Given the description of an element on the screen output the (x, y) to click on. 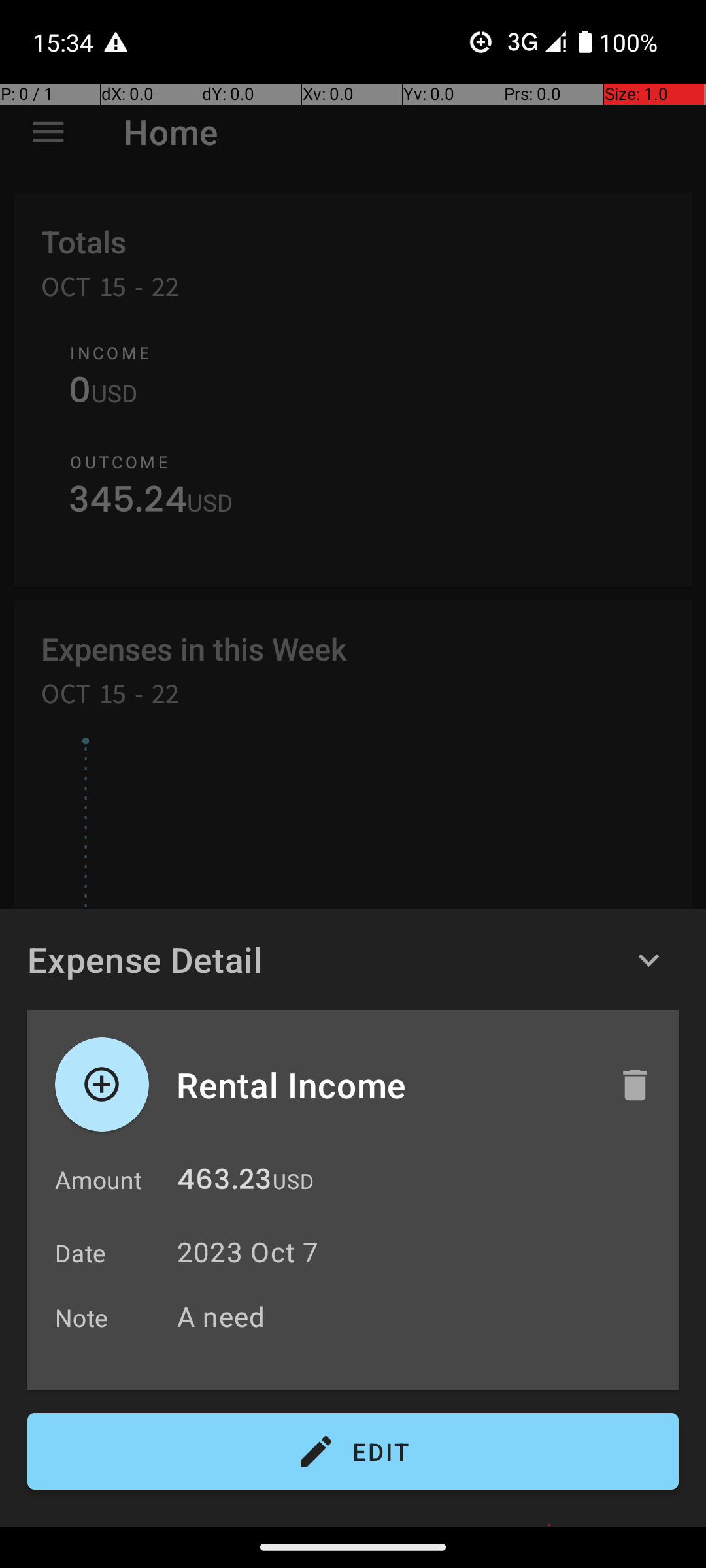
Expense Detail Element type: android.widget.TextView (145, 959)
Rental Income Element type: android.widget.TextView (383, 1084)
Amount Element type: android.widget.TextView (97, 1179)
463.23 Element type: android.widget.TextView (223, 1182)
Date Element type: android.widget.TextView (80, 1252)
2023 Oct 7 Element type: android.widget.TextView (247, 1251)
Note Element type: android.widget.TextView (81, 1317)
A need Element type: android.widget.TextView (420, 1315)
EDIT Element type: android.widget.Button (352, 1451)
